Given the description of an element on the screen output the (x, y) to click on. 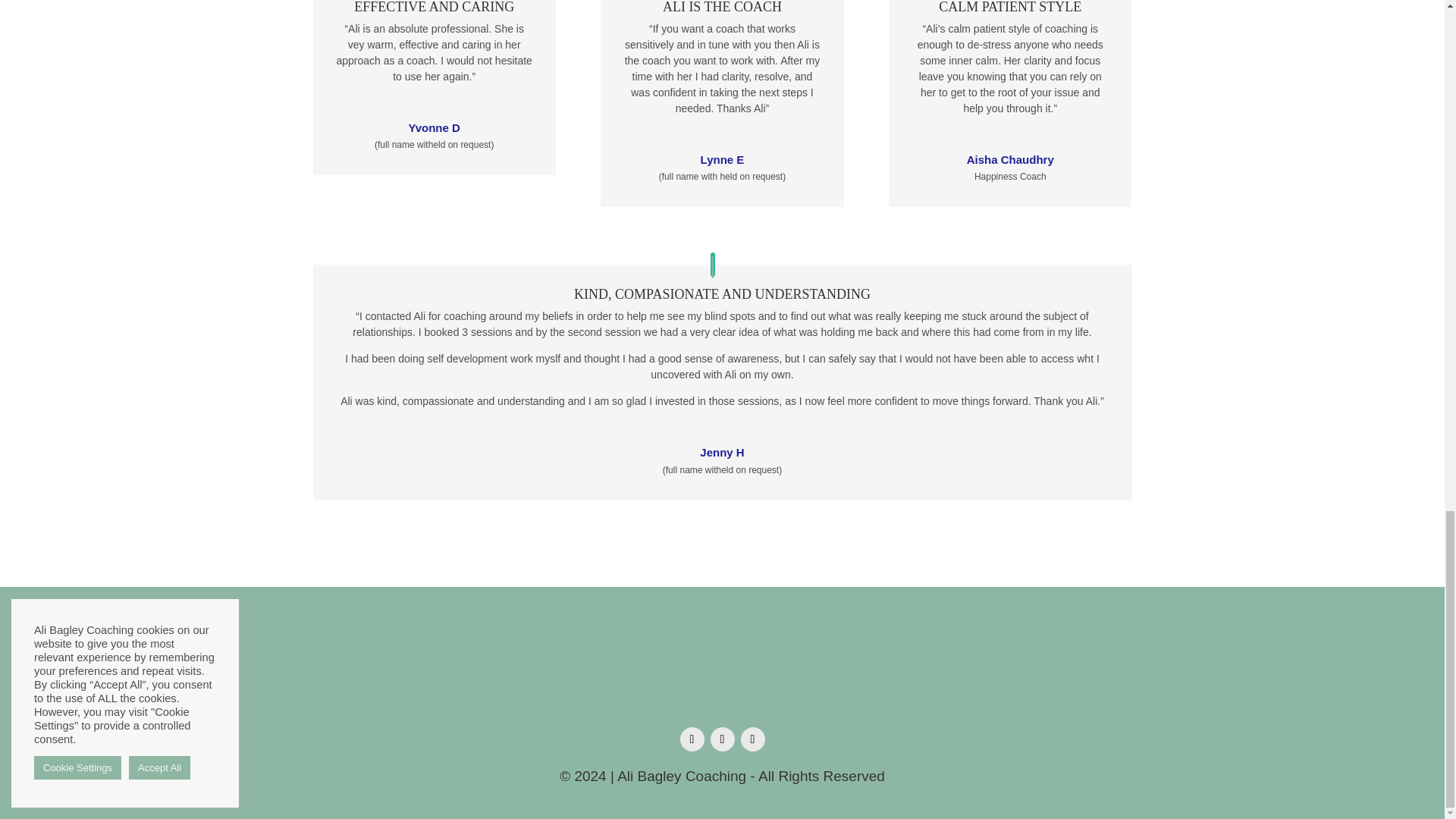
Follow on LinkedIn (751, 739)
ali-bagly-logo (721, 668)
Follow on Facebook (691, 739)
Follow on Twitter (721, 739)
